Given the description of an element on the screen output the (x, y) to click on. 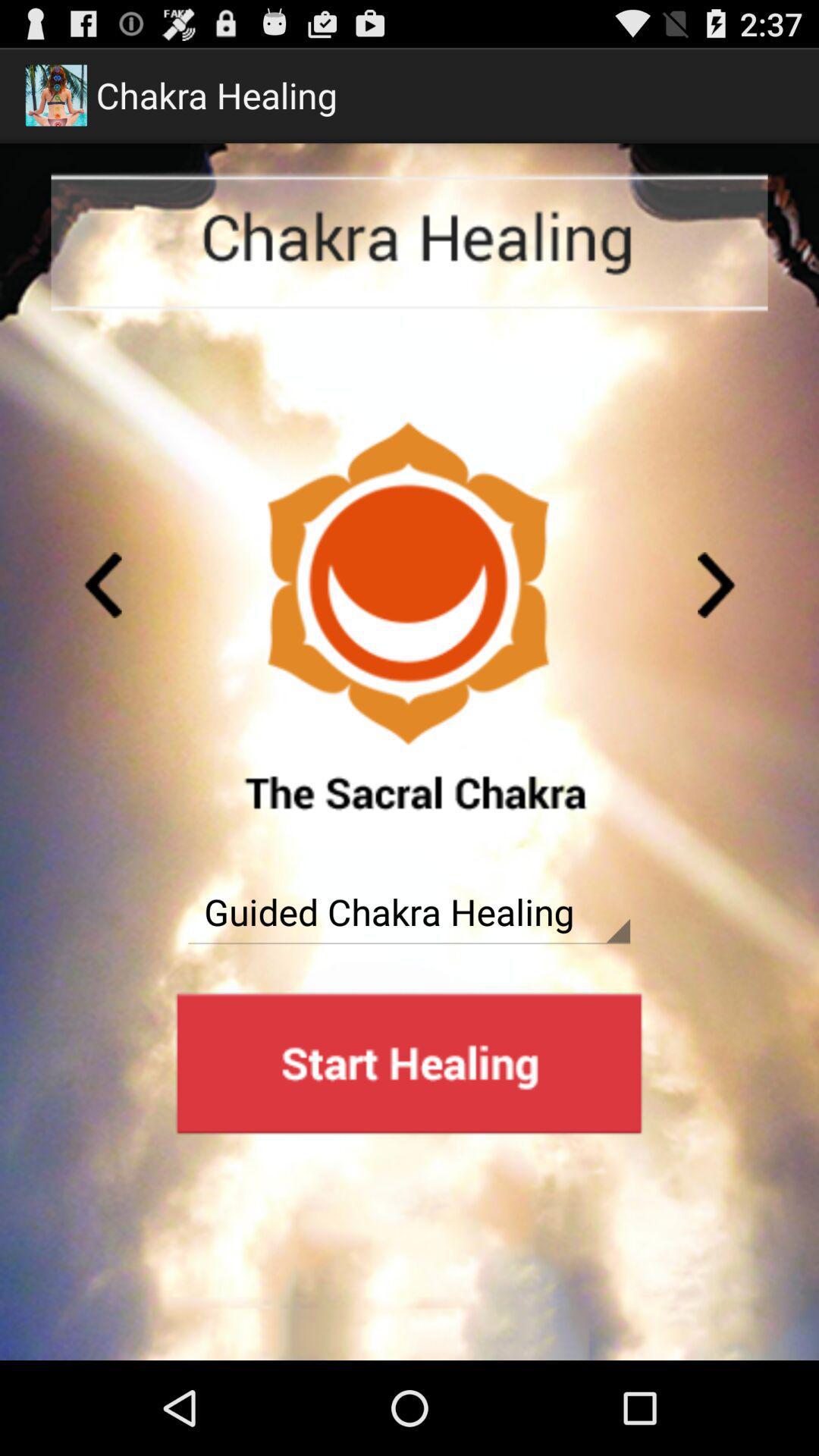
advertisement page (409, 1063)
